Given the description of an element on the screen output the (x, y) to click on. 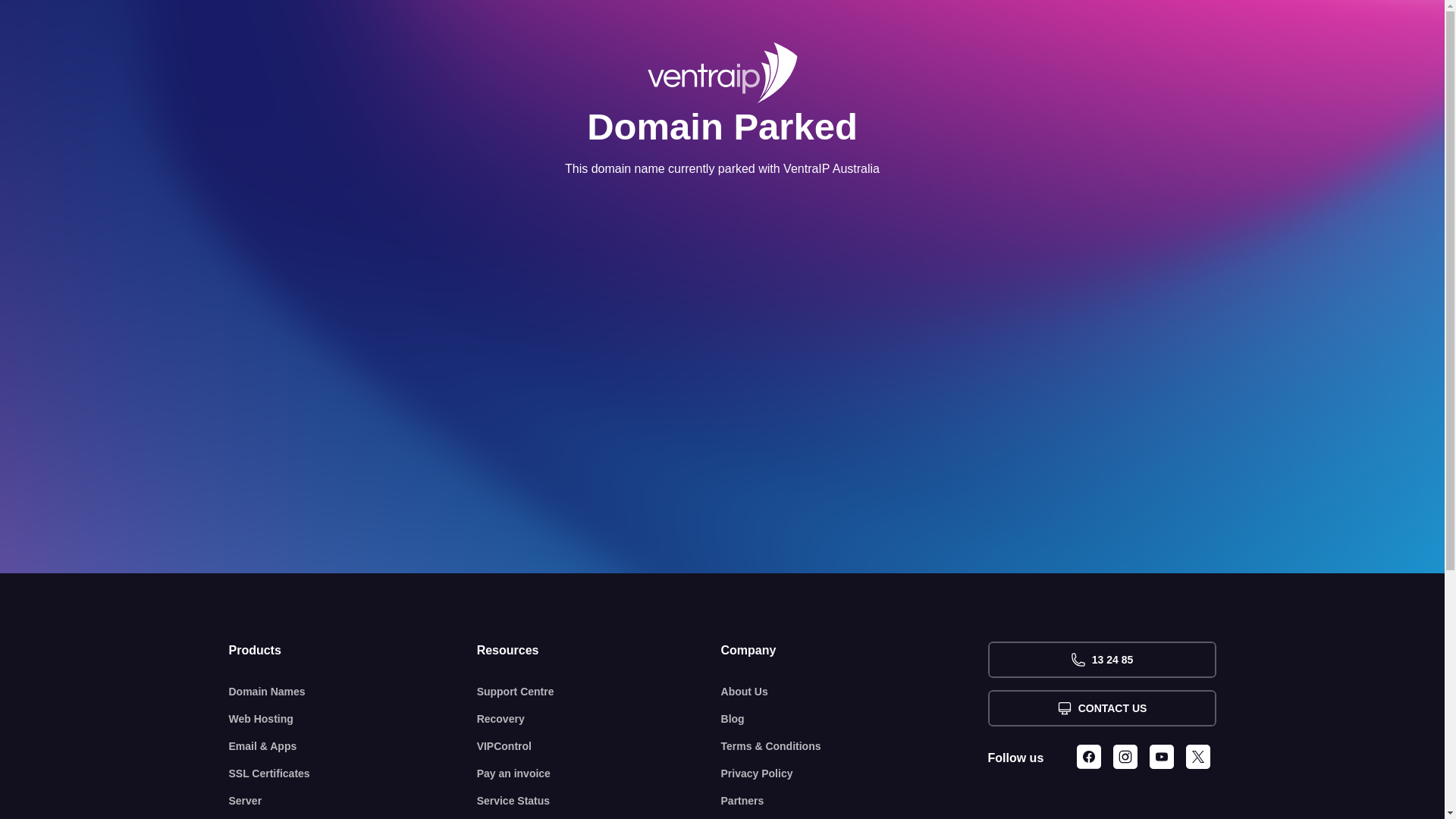
Domain Names Element type: text (352, 691)
VIPControl Element type: text (598, 745)
Blog Element type: text (854, 718)
Support Centre Element type: text (598, 691)
Partners Element type: text (854, 800)
13 24 85 Element type: text (1101, 659)
Email & Apps Element type: text (352, 745)
Pay an invoice Element type: text (598, 773)
CONTACT US Element type: text (1101, 708)
Web Hosting Element type: text (352, 718)
Service Status Element type: text (598, 800)
SSL Certificates Element type: text (352, 773)
Terms & Conditions Element type: text (854, 745)
About Us Element type: text (854, 691)
Recovery Element type: text (598, 718)
Privacy Policy Element type: text (854, 773)
Server Element type: text (352, 800)
